Given the description of an element on the screen output the (x, y) to click on. 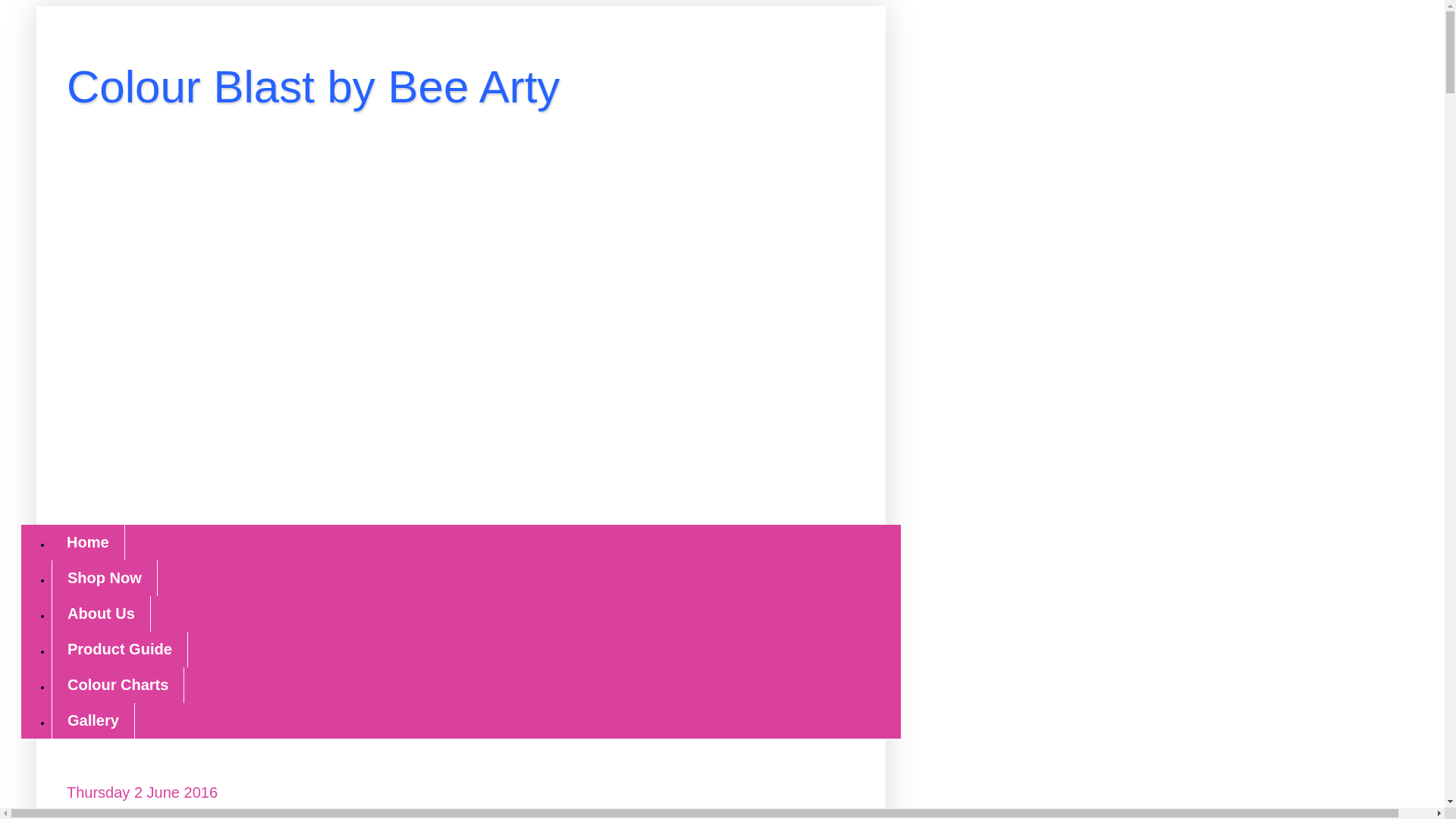
Colour Charts (117, 684)
Product Guide (118, 649)
Home (87, 542)
Gallery (92, 720)
Shop Now (103, 578)
About Us (100, 613)
Colour Blast by Bee Arty (312, 86)
